Given the description of an element on the screen output the (x, y) to click on. 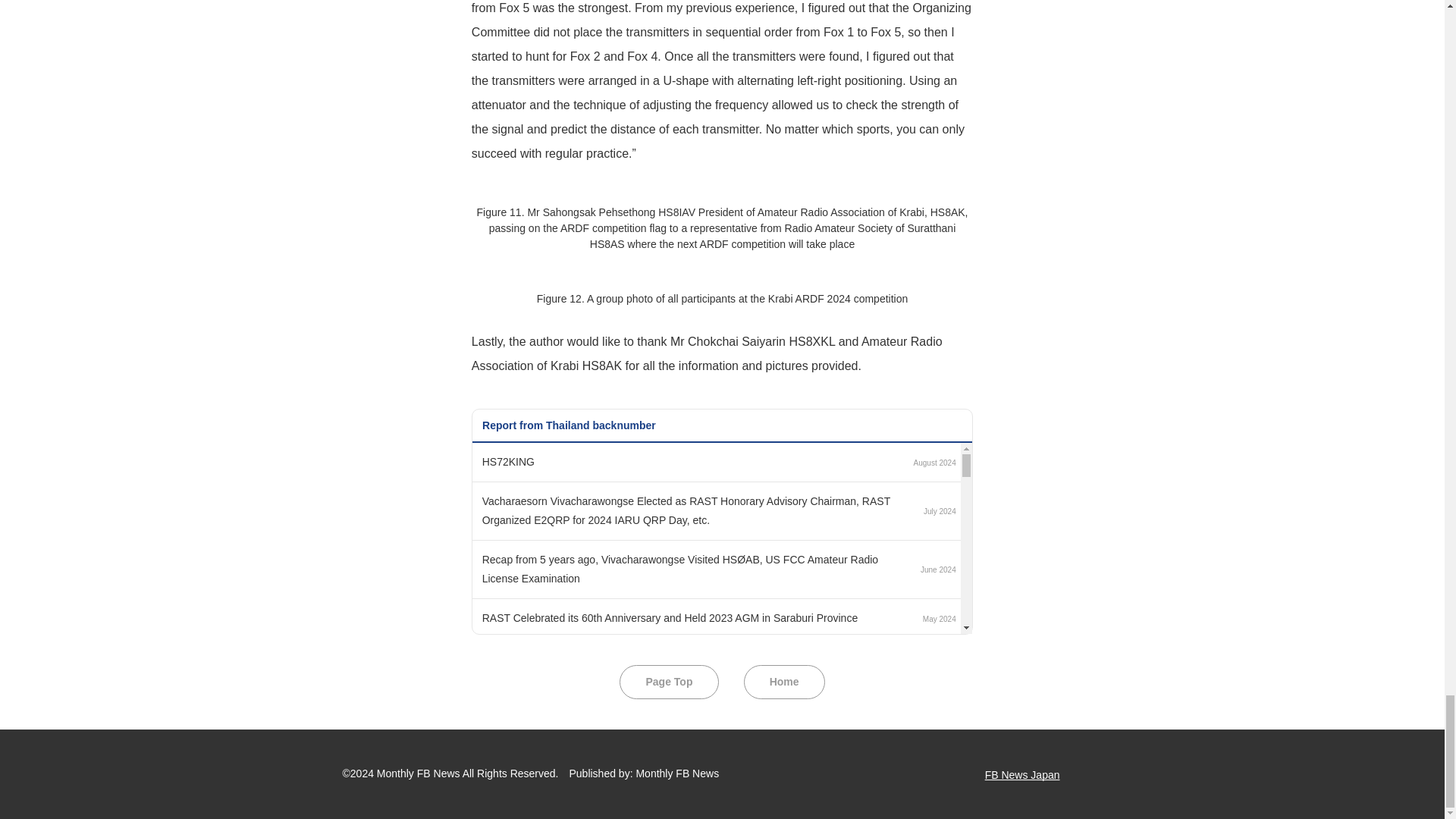
CQ World Wide DX Contest from Thailand (581, 775)
HS72KING (507, 461)
December YOTA Month in Thailand (564, 736)
